Given the description of an element on the screen output the (x, y) to click on. 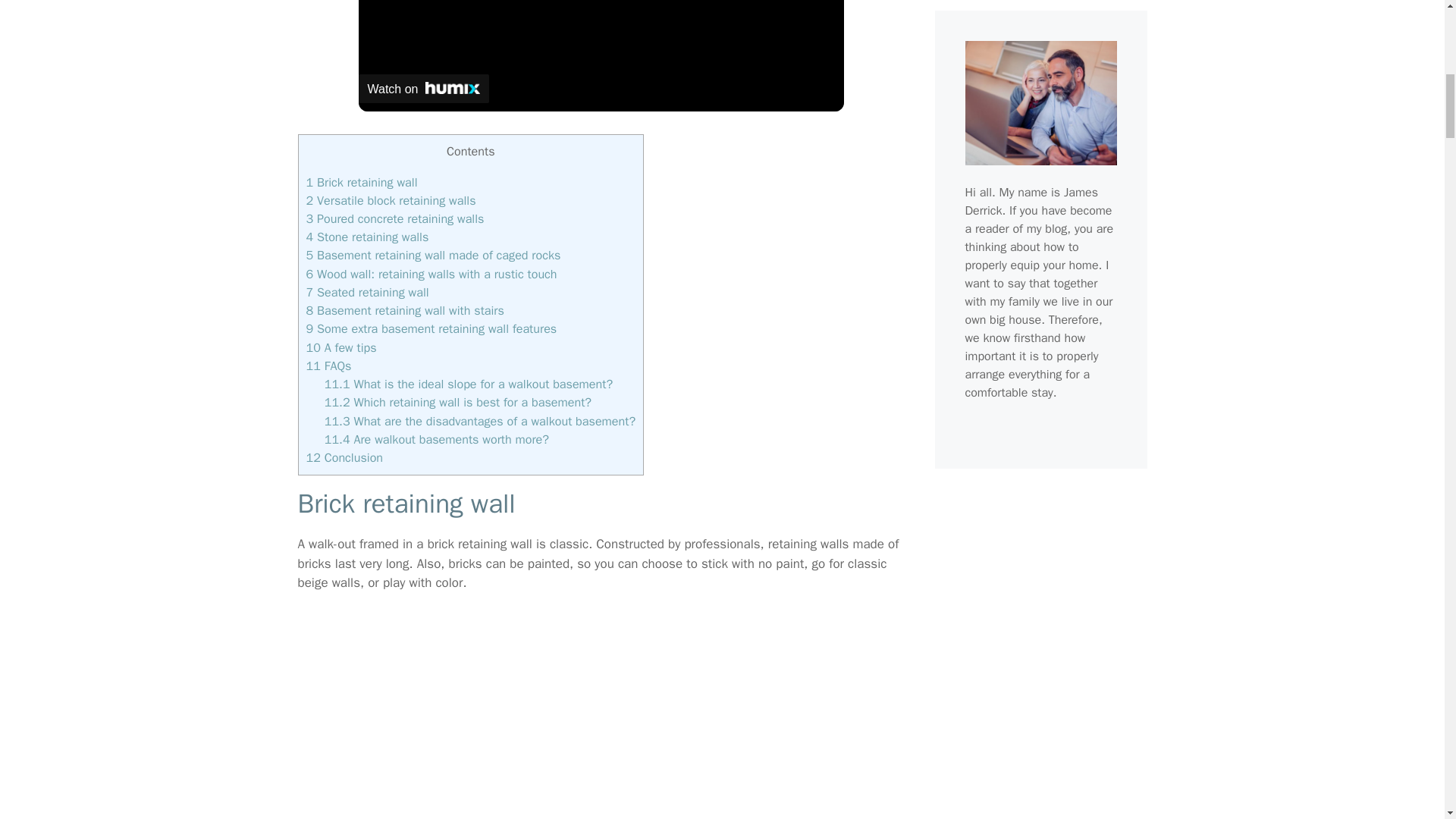
5 Basement retaining wall made of caged rocks (432, 254)
2 Versatile block retaining walls (390, 200)
11.2 Which retaining wall is best for a basement? (457, 401)
7 Seated retaining wall (367, 292)
Watch on (422, 88)
11.3 What are the disadvantages of a walkout basement? (479, 421)
Building A Retaining Wall: Walkout Basement Ideas (600, 715)
8 Basement retaining wall with stairs (404, 310)
11.4 Are walkout basements worth more? (436, 439)
1 Brick retaining wall (361, 182)
